Given the description of an element on the screen output the (x, y) to click on. 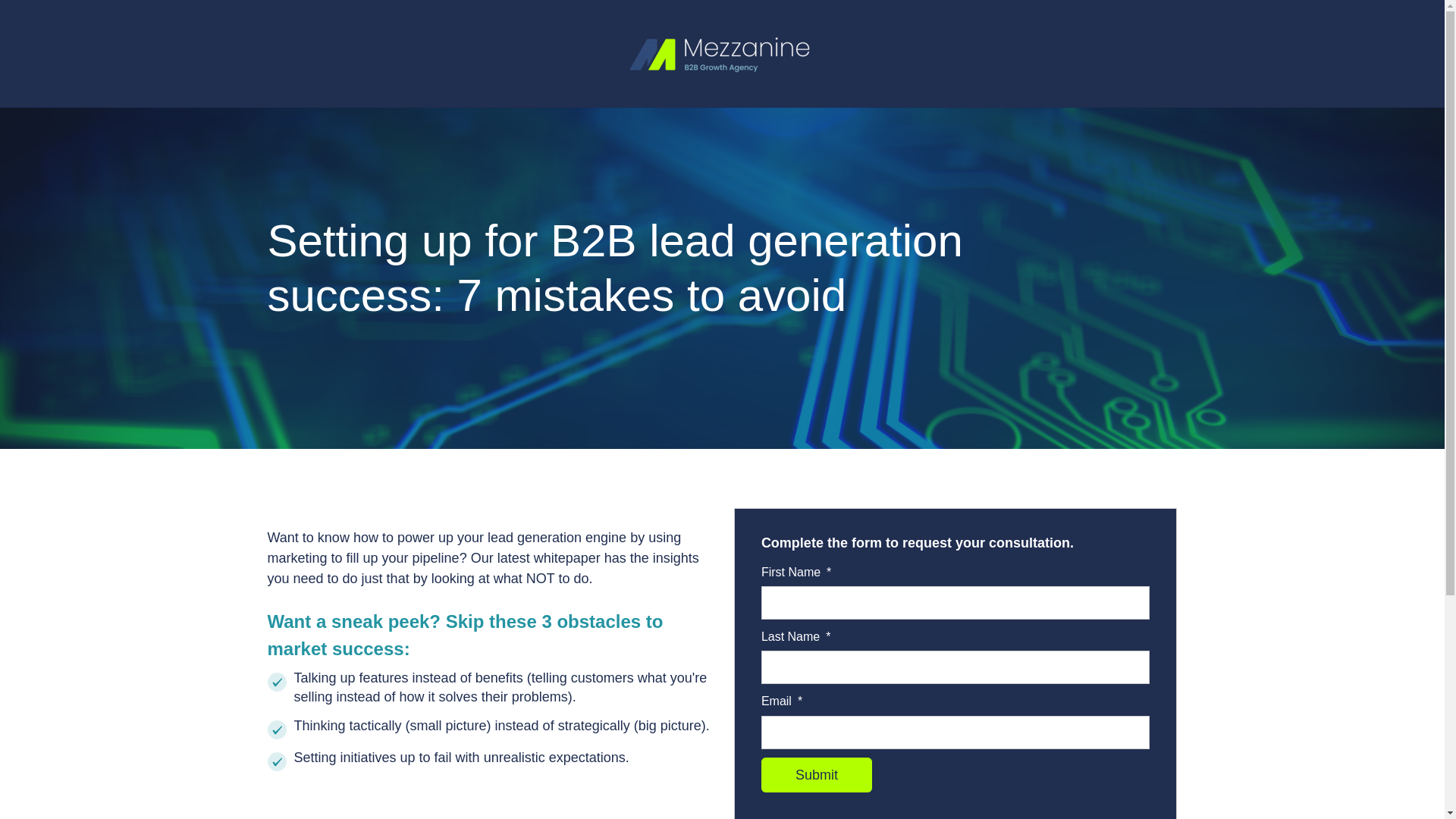
Submit (816, 775)
Submit (816, 775)
